Given the description of an element on the screen output the (x, y) to click on. 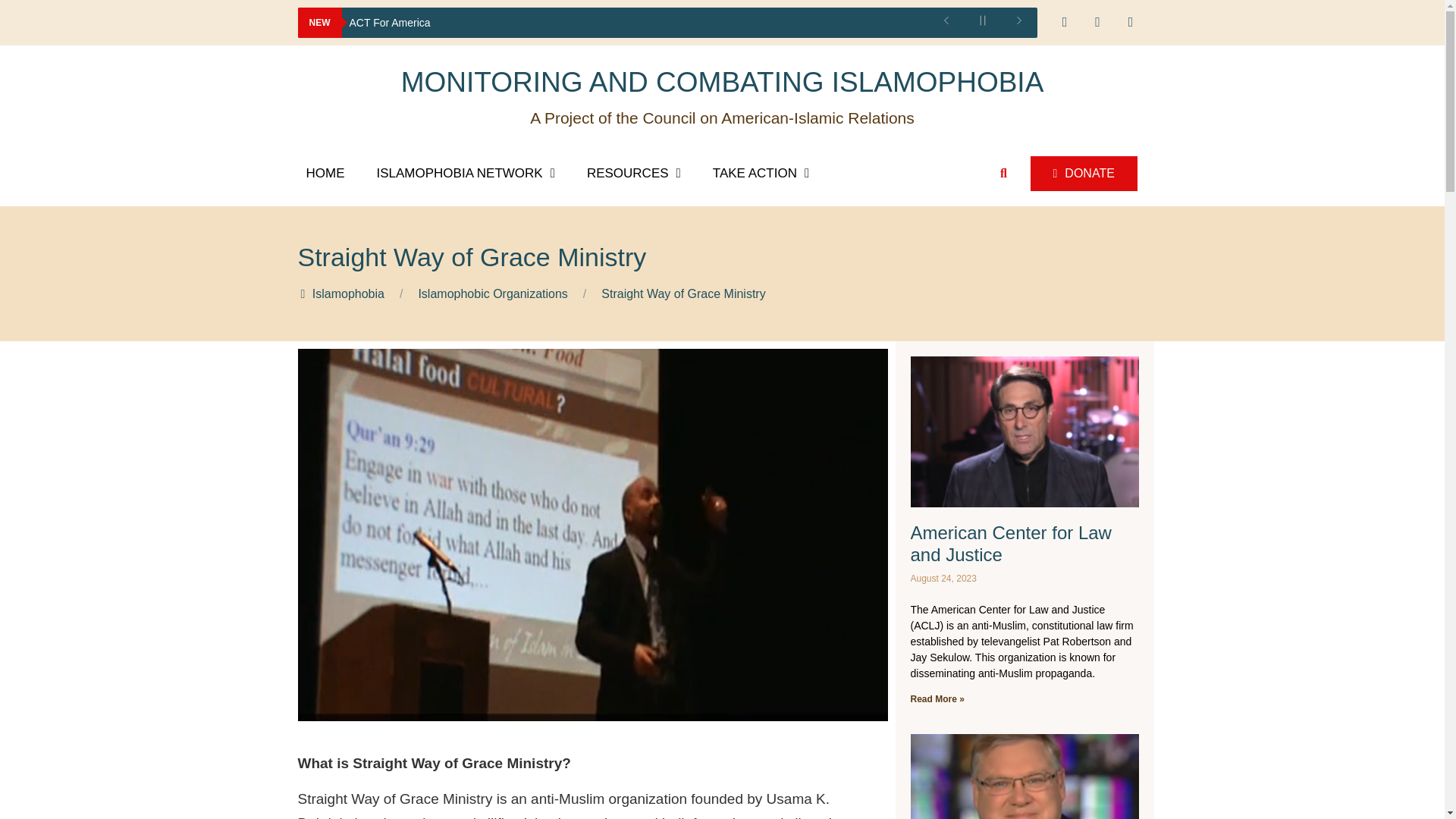
RESOURCES (633, 173)
ACT For America (633, 22)
ISLAMOPHOBIA NETWORK (465, 173)
search-button (1003, 173)
TAKE ACTION (760, 173)
HOME (324, 173)
